Given the description of an element on the screen output the (x, y) to click on. 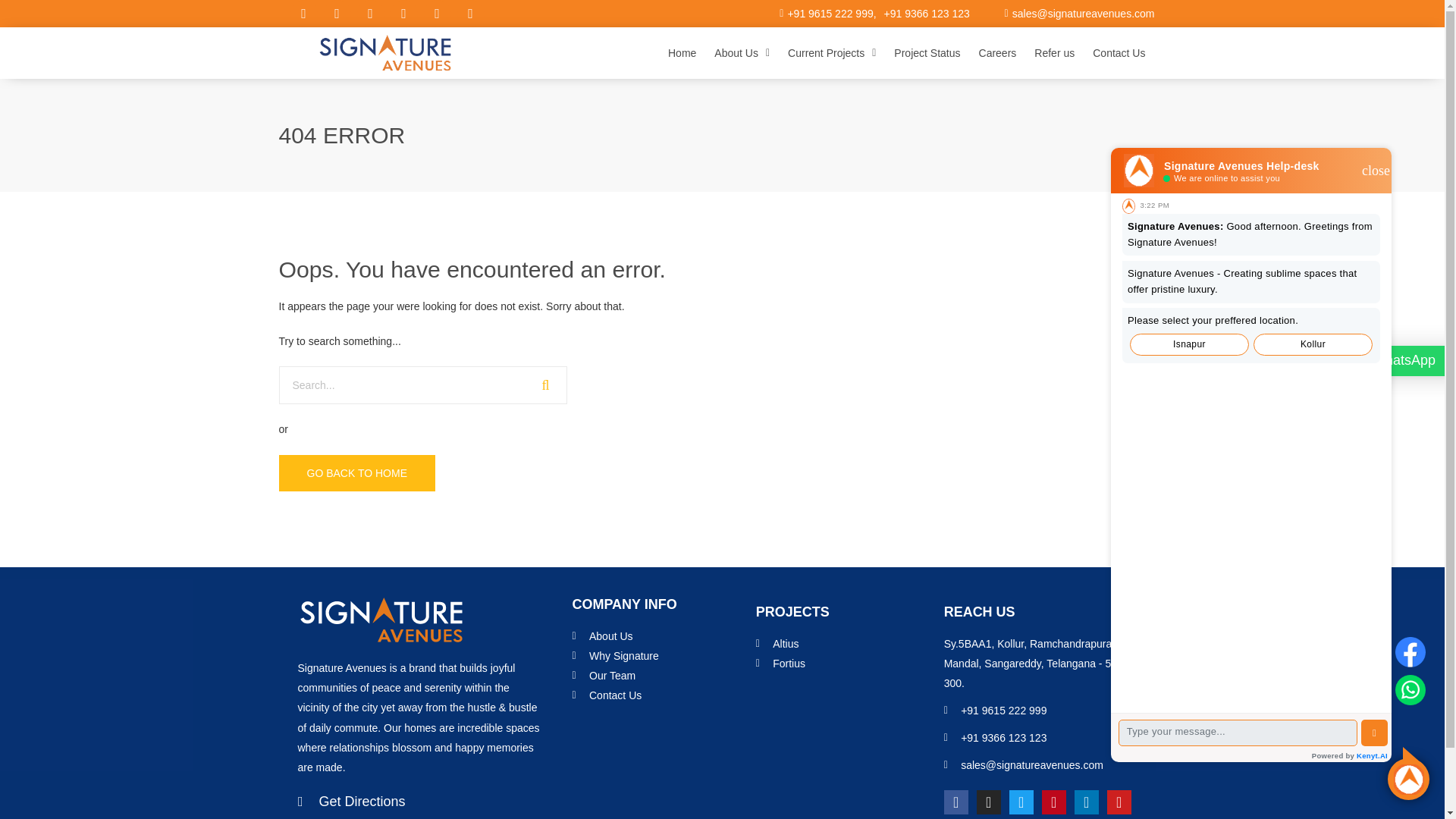
Why Signature (660, 655)
Refer us (1054, 53)
Contact Us (1118, 53)
Project Status (927, 53)
Get Directions (419, 801)
Current Projects (831, 53)
About Us (741, 53)
Home (681, 53)
Careers (997, 53)
GO BACK TO HOME (357, 473)
About Us (660, 636)
